Given the description of an element on the screen output the (x, y) to click on. 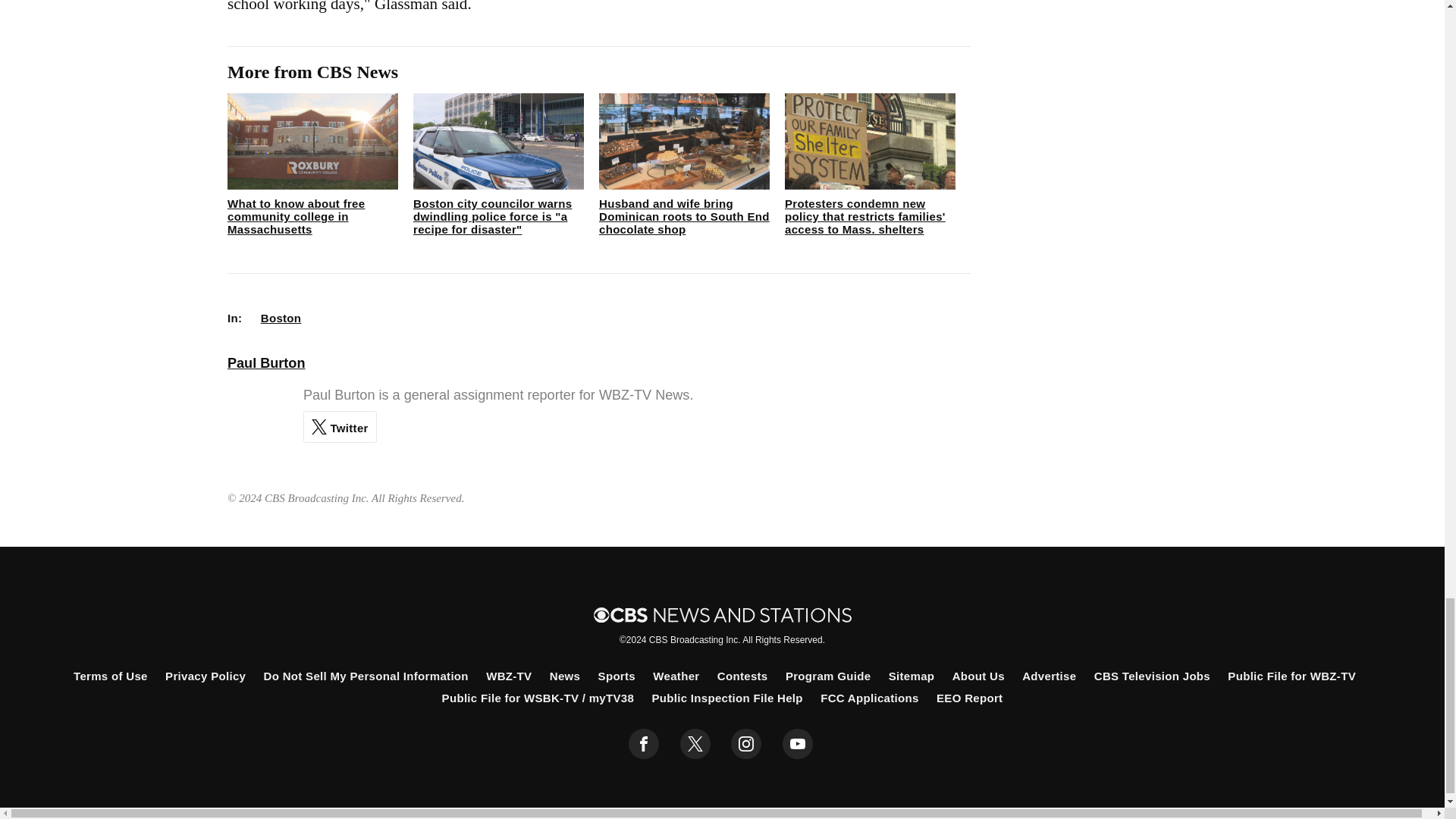
youtube (797, 743)
instagram (745, 743)
facebook (643, 743)
twitter (694, 743)
